Given the description of an element on the screen output the (x, y) to click on. 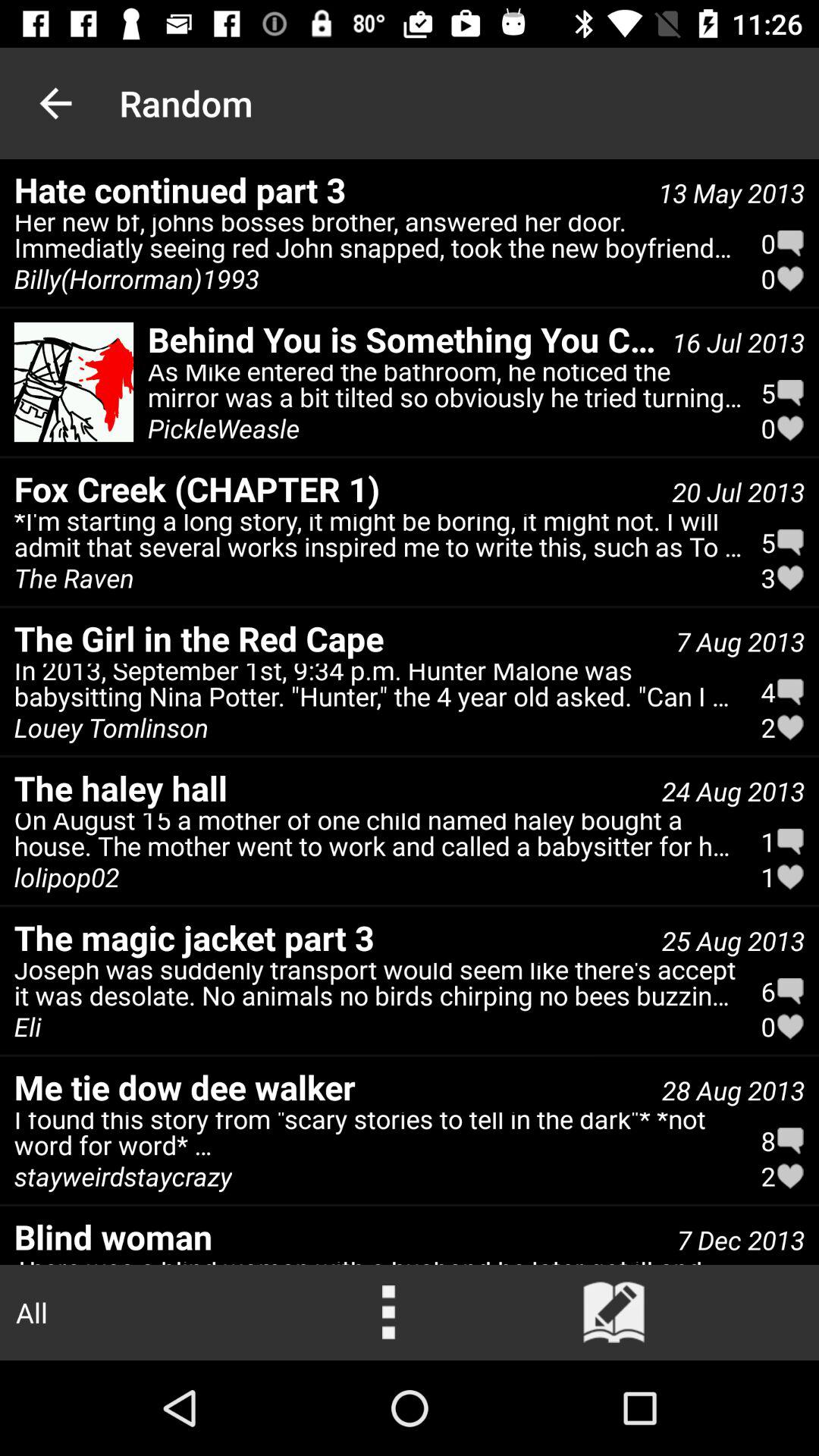
tap icon below the the haley hall item (66, 876)
